Given the description of an element on the screen output the (x, y) to click on. 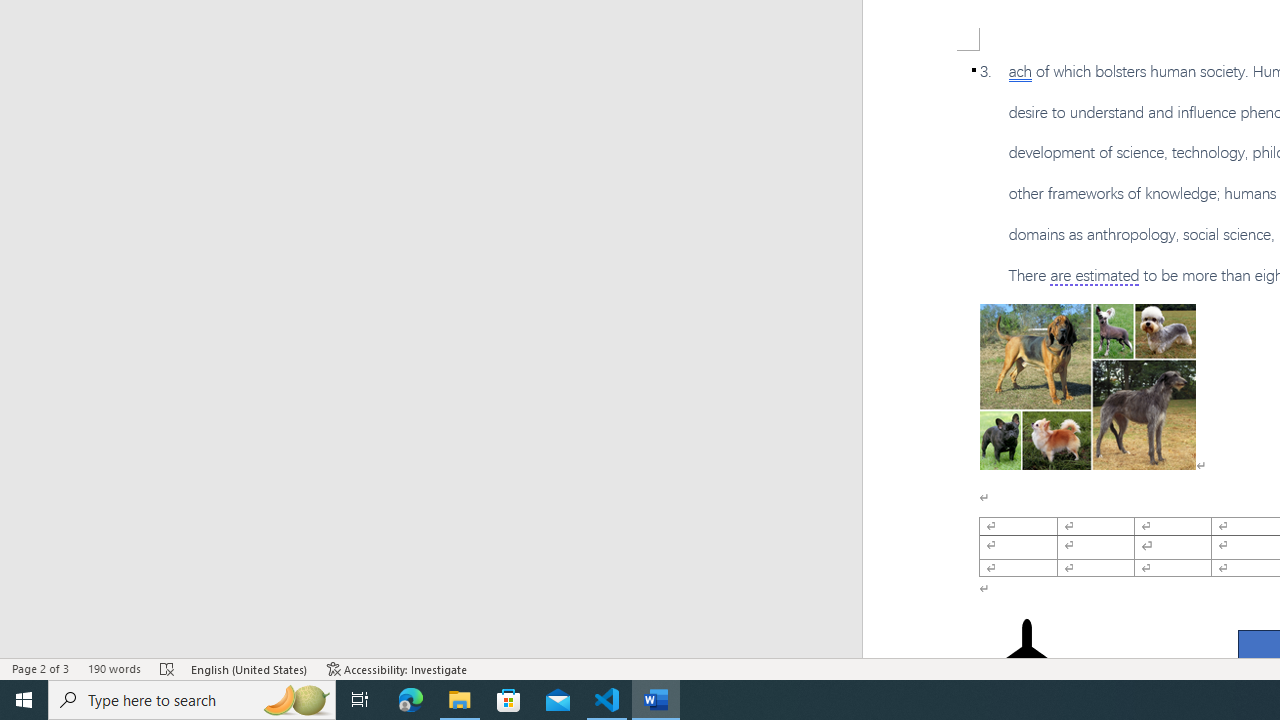
Page Number Page 2 of 3 (39, 668)
Airplane with solid fill (1026, 657)
Morphological variation in six dogs (1087, 386)
